Given the description of an element on the screen output the (x, y) to click on. 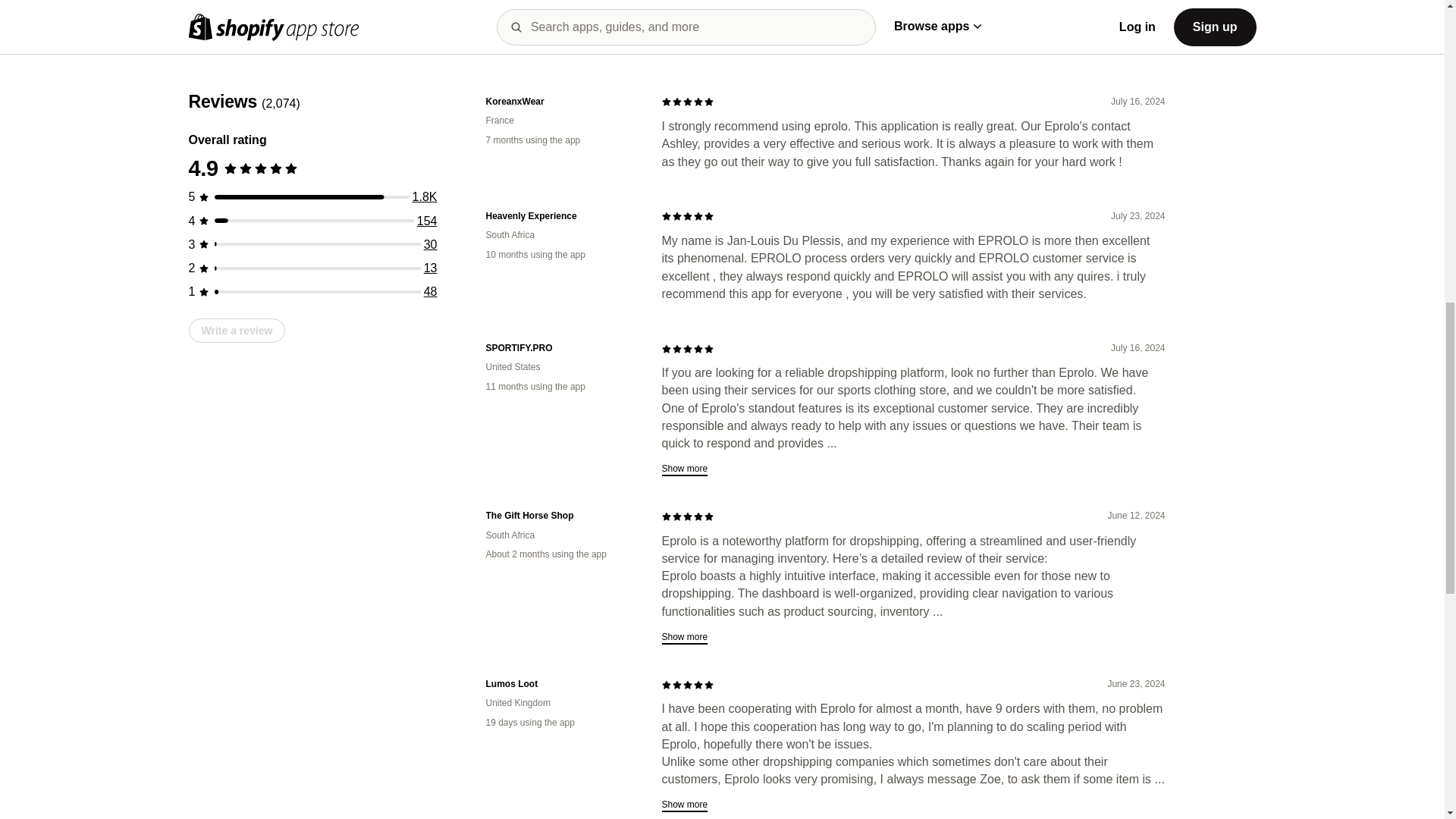
SPORTIFY.PRO (560, 348)
KoreanxWear (560, 101)
Heavenly Experience (560, 215)
The Gift Horse Shop (560, 515)
Lumos Loot (560, 684)
